Given the description of an element on the screen output the (x, y) to click on. 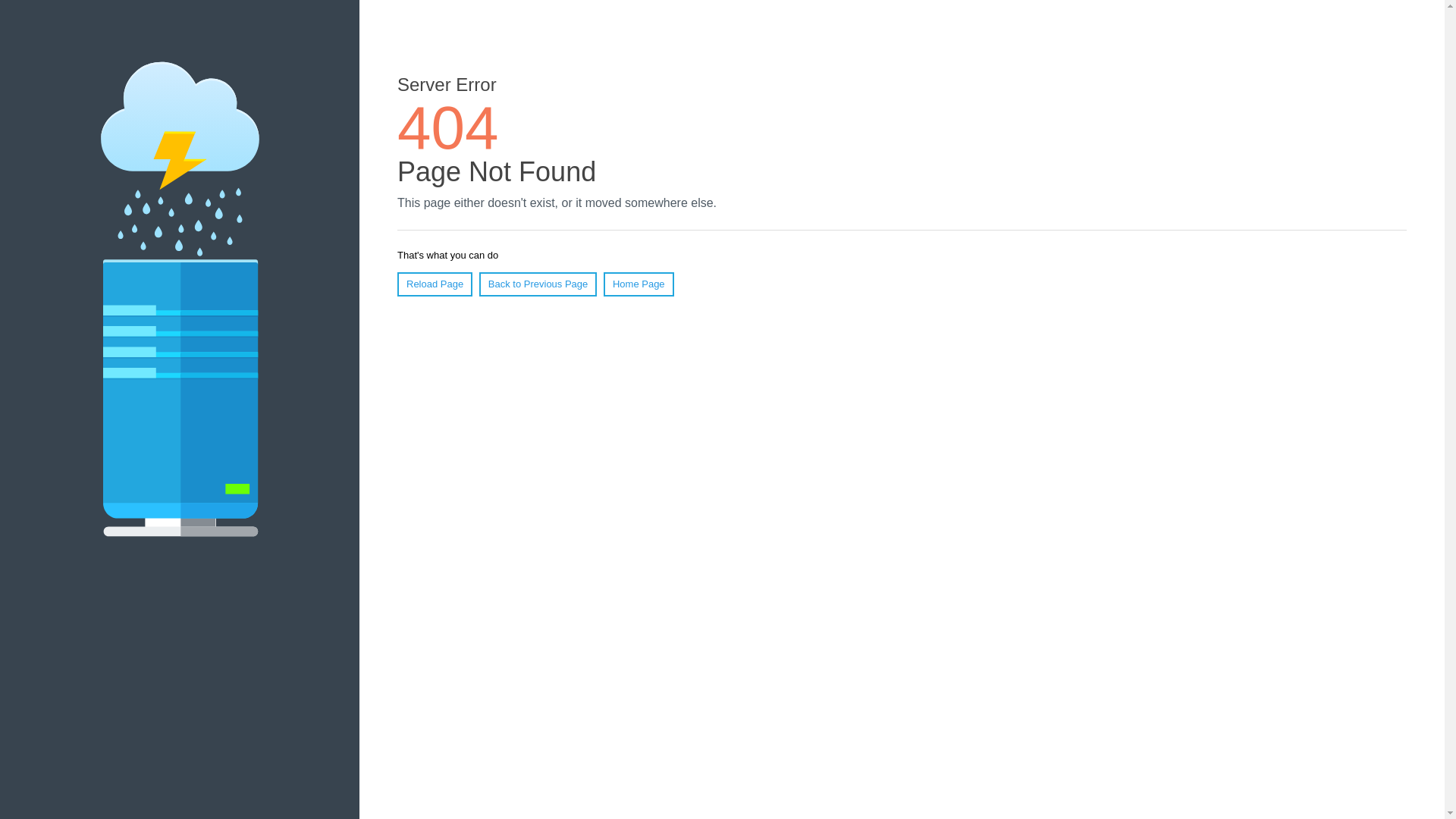
Reload Page (434, 283)
Home Page (639, 283)
Back to Previous Page (537, 283)
